Given the description of an element on the screen output the (x, y) to click on. 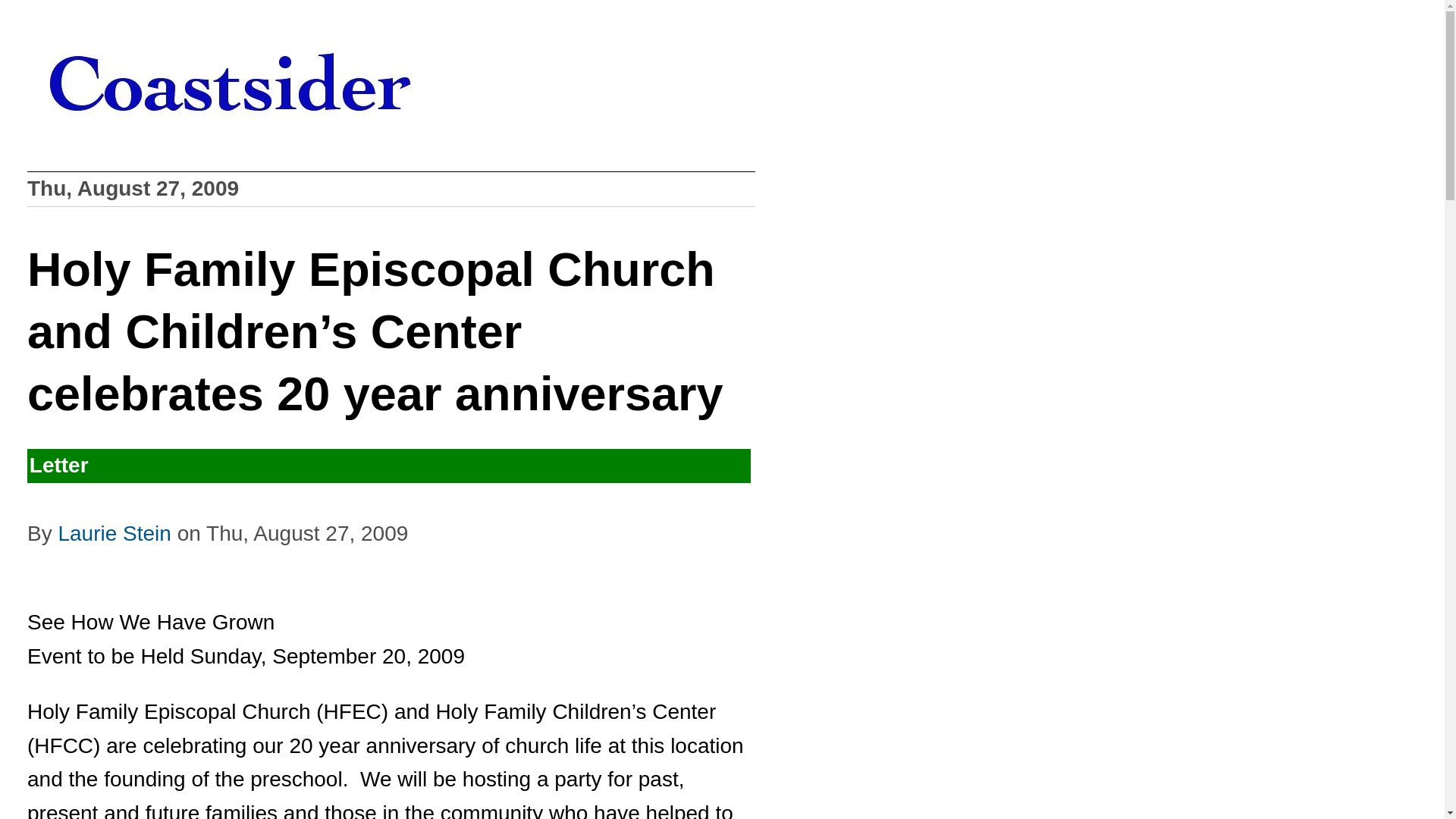
Laurie Stein (114, 533)
